Given the description of an element on the screen output the (x, y) to click on. 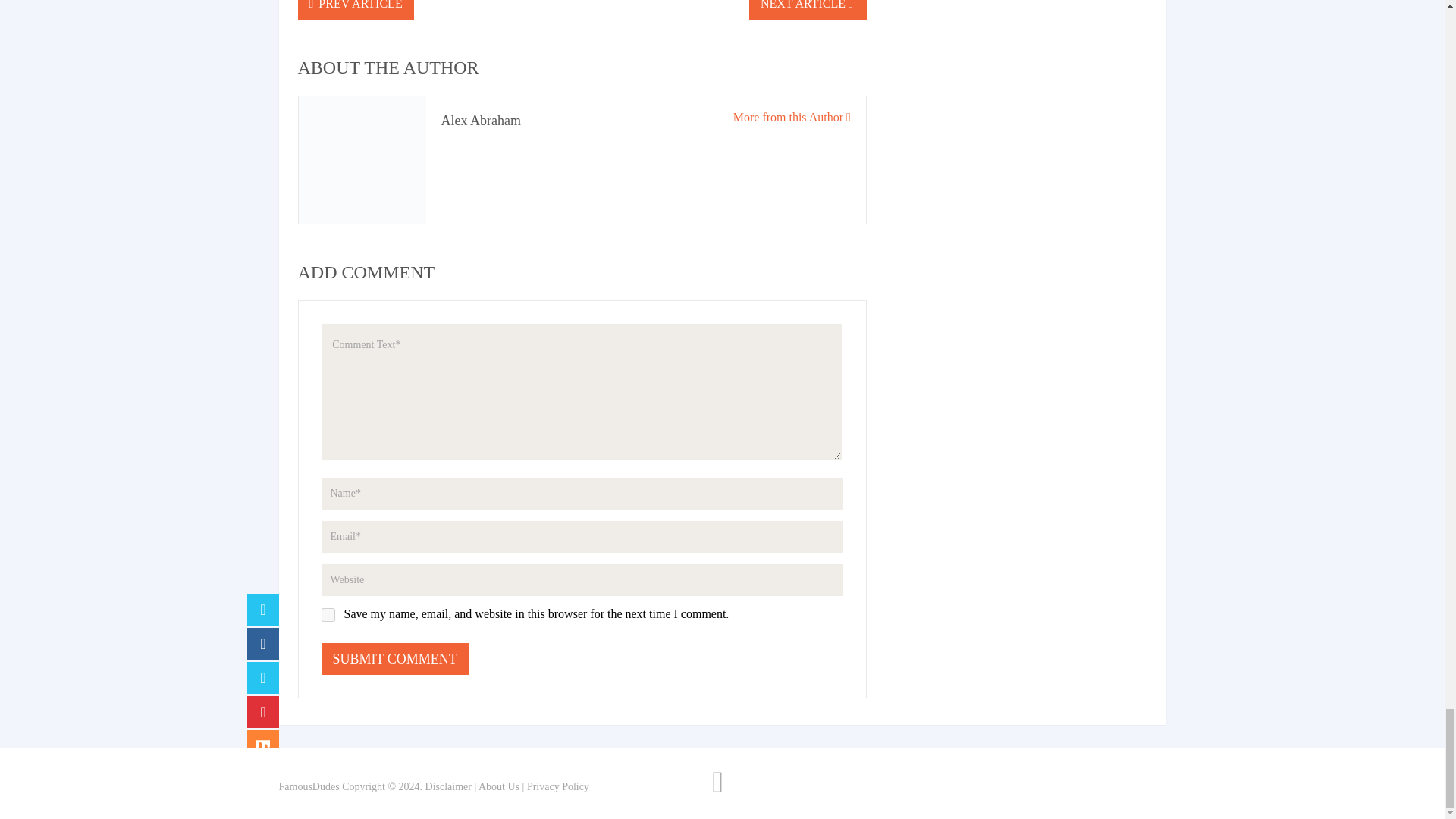
Submit Comment (394, 658)
yes (327, 614)
